Given the description of an element on the screen output the (x, y) to click on. 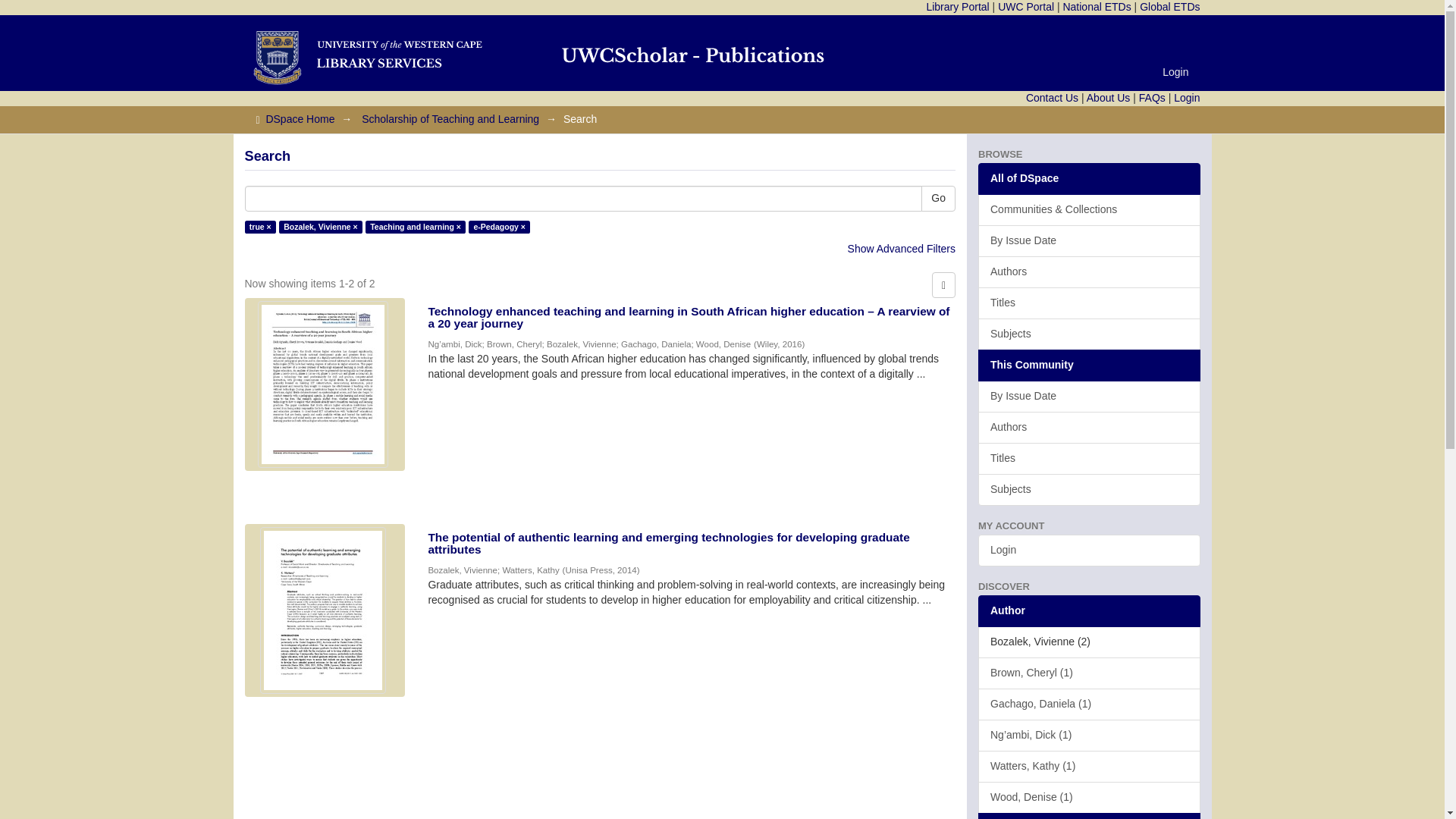
Global ETDs (1169, 6)
Go (938, 198)
Show Advanced Filters (901, 248)
Login (1186, 97)
Library Portal (957, 6)
FAQs (1152, 97)
Scholarship of Teaching and Learning (449, 119)
Contact Us (1052, 97)
DSpace Home (299, 119)
UWC Portal (1025, 6)
Login (1175, 71)
About Us (1108, 97)
National ETDs (1096, 6)
